Given the description of an element on the screen output the (x, y) to click on. 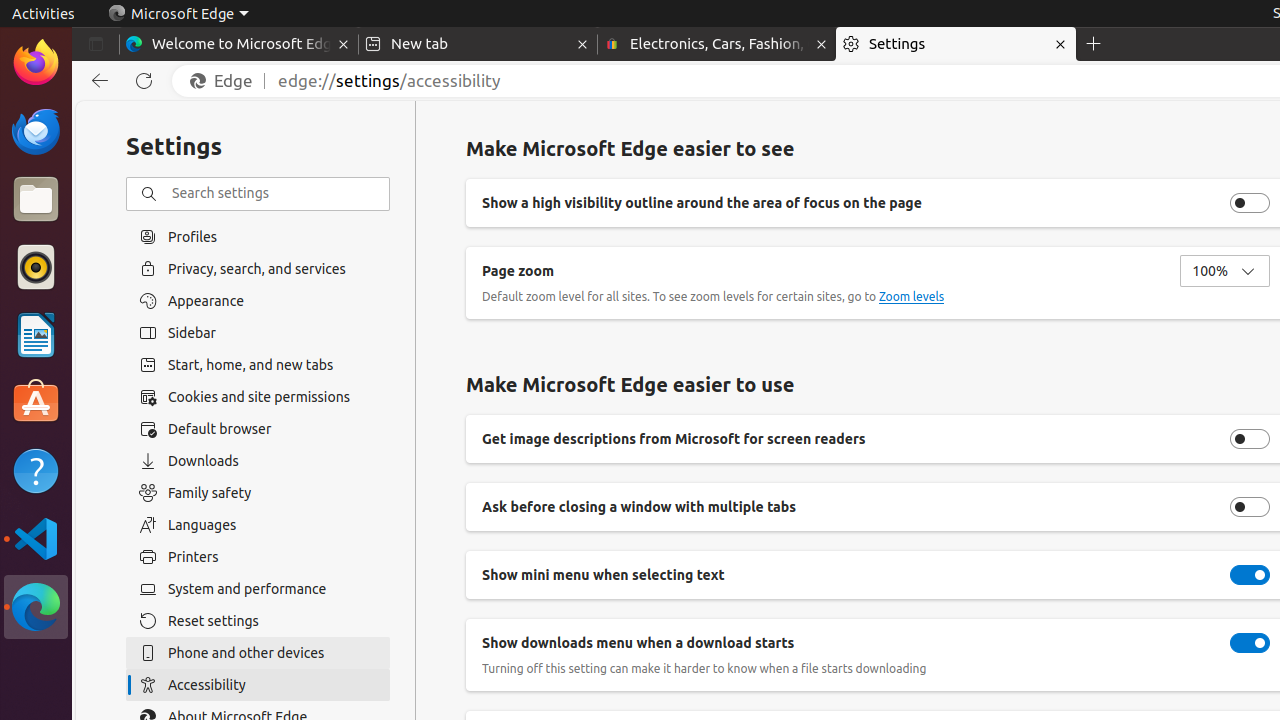
Start, home, and new tabs Element type: tree-item (258, 365)
Languages Element type: tree-item (258, 525)
Page zoom 100% Element type: push-button (1225, 271)
Zoom levels Element type: link (911, 297)
New Tab Element type: push-button (1094, 44)
